Given the description of an element on the screen output the (x, y) to click on. 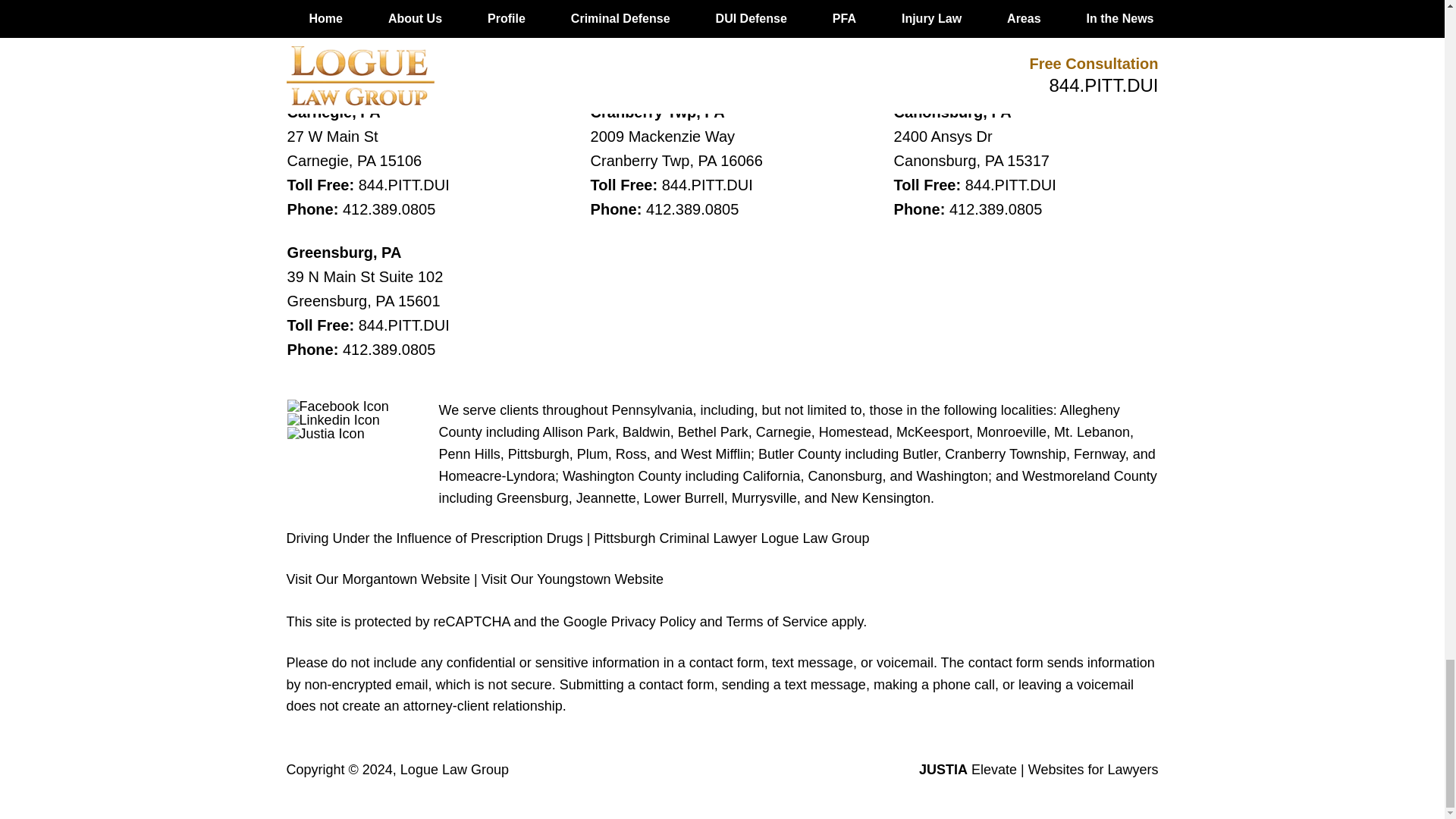
844.PITT.DUI (403, 184)
412.389.0805 (388, 208)
412.389.0805 (388, 349)
Justia (325, 433)
412.389.0805 (995, 208)
Linkedin (333, 419)
844.PITT.DUI (403, 324)
412.389.0805 (692, 208)
Facebook (337, 406)
844.PITT.DUI (707, 184)
